Given the description of an element on the screen output the (x, y) to click on. 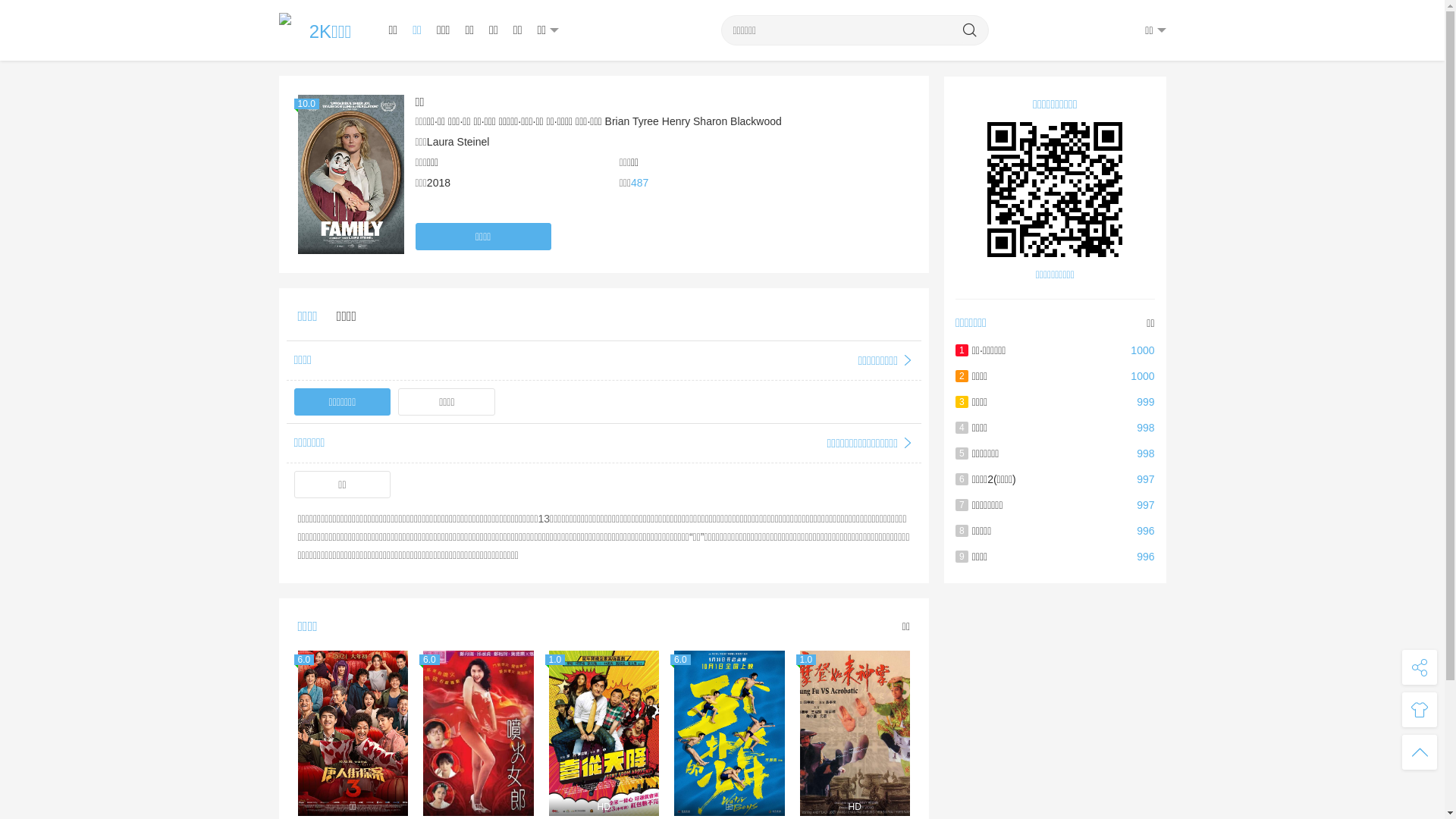
10.0 Element type: text (350, 174)
Steinel Element type: text (473, 141)
Laura Element type: text (440, 141)
Sharon Element type: text (710, 121)
Brian Element type: text (617, 121)
1.0
HD Element type: text (854, 732)
1.0
HD Element type: text (604, 732)
Tyree Element type: text (645, 121)
Blackwood Element type: text (755, 121)
Henry Element type: text (676, 121)
2018 Element type: text (438, 182)
